Given the description of an element on the screen output the (x, y) to click on. 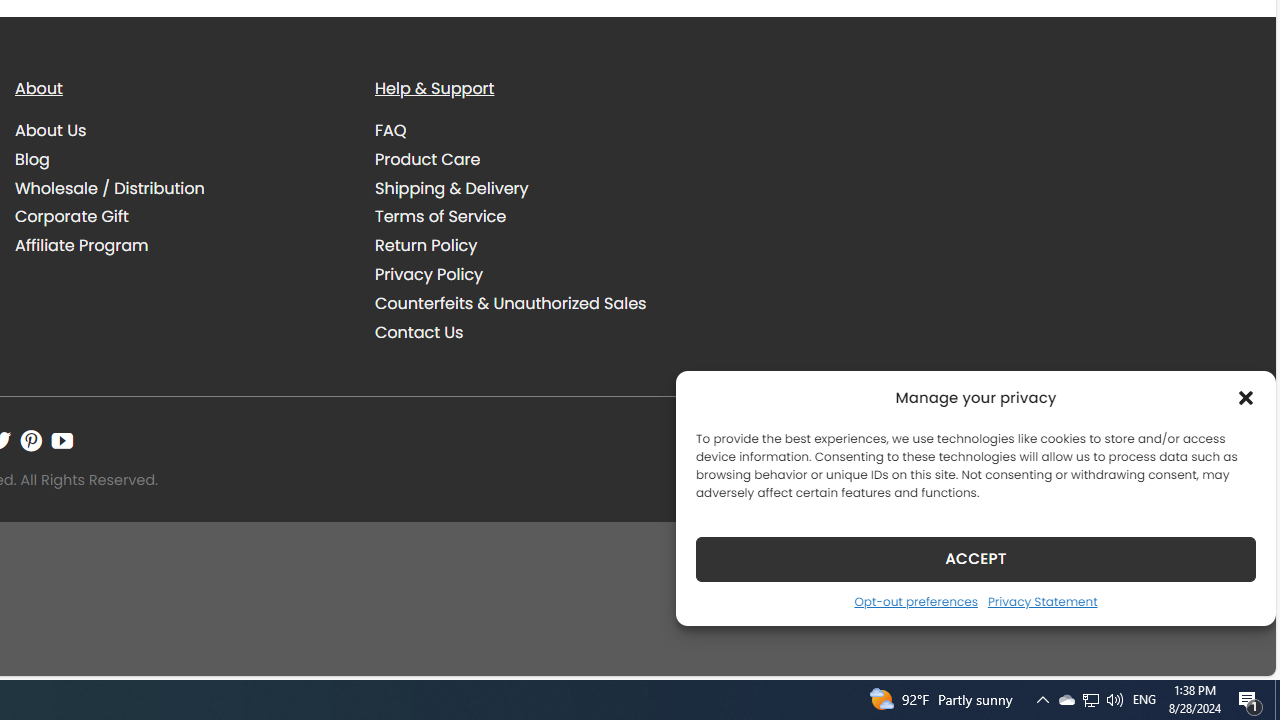
Blog (32, 158)
ACCEPT (975, 558)
About Us (180, 131)
Shipping & Delivery (451, 187)
Terms of Service (440, 216)
Privacy Policy (429, 273)
Corporate Gift (180, 216)
FAQ (540, 131)
Privacy Policy (540, 274)
Opt-out preferences (915, 601)
Counterfeits & Unauthorized Sales (510, 302)
Counterfeits & Unauthorized Sales (540, 303)
Shipping & Delivery (540, 188)
